Given the description of an element on the screen output the (x, y) to click on. 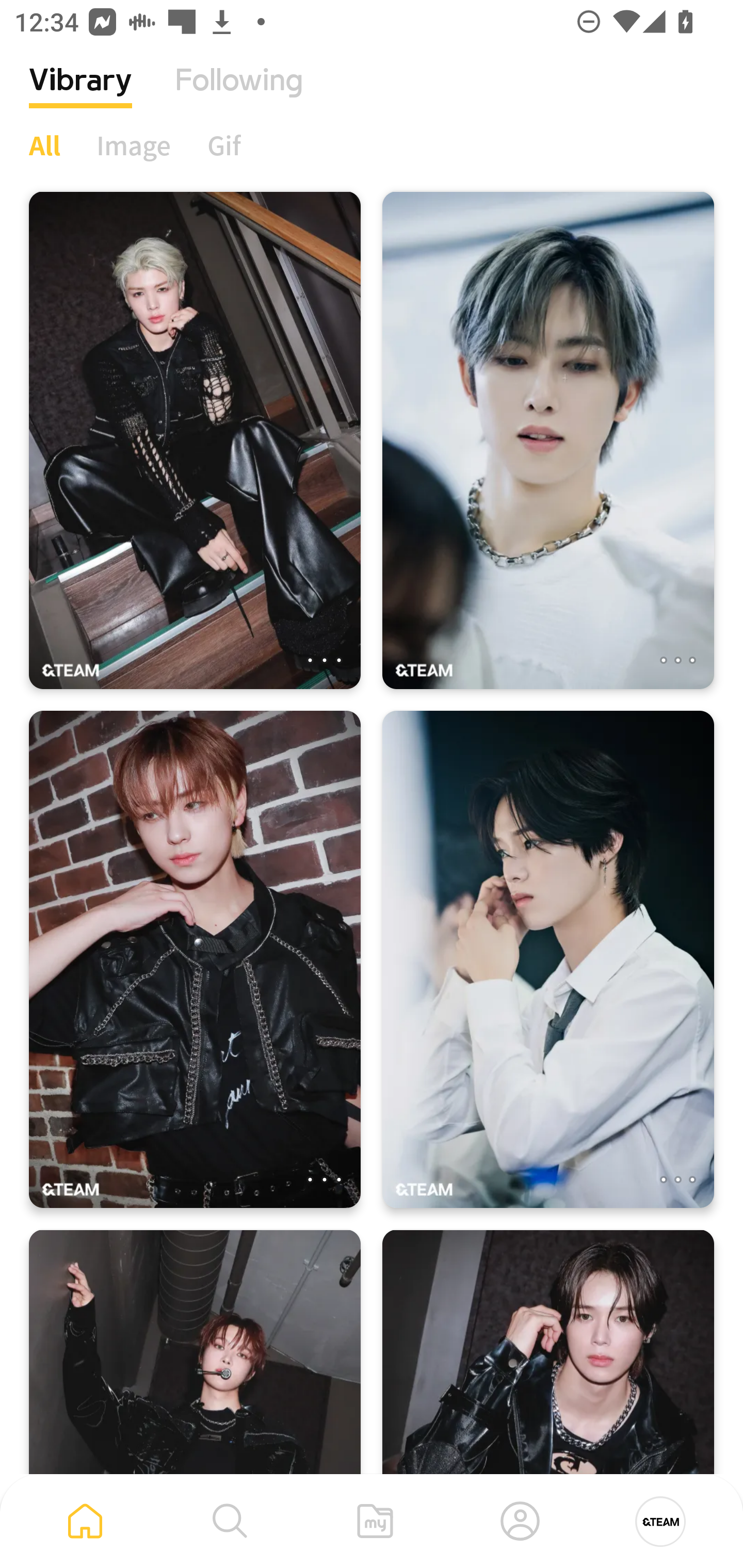
Vibrary (80, 95)
Following (239, 95)
All (44, 145)
Image (133, 145)
Gif (223, 145)
